Given the description of an element on the screen output the (x, y) to click on. 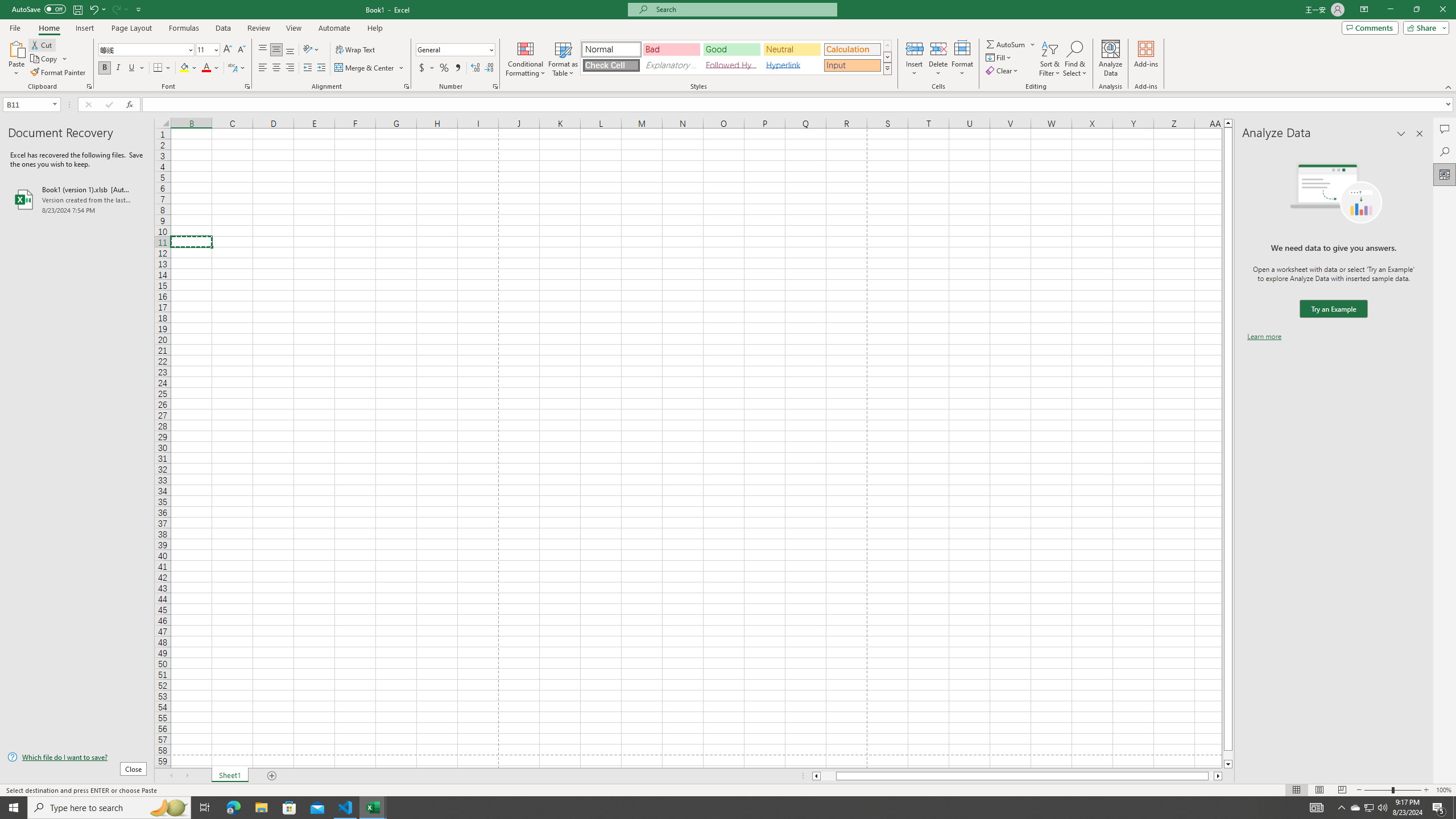
Wrap Text (355, 49)
Font Size (207, 49)
Delete (938, 58)
Show Phonetic Field (231, 67)
Bad (671, 49)
Top Align (262, 49)
Format Painter (58, 72)
